Given the description of an element on the screen output the (x, y) to click on. 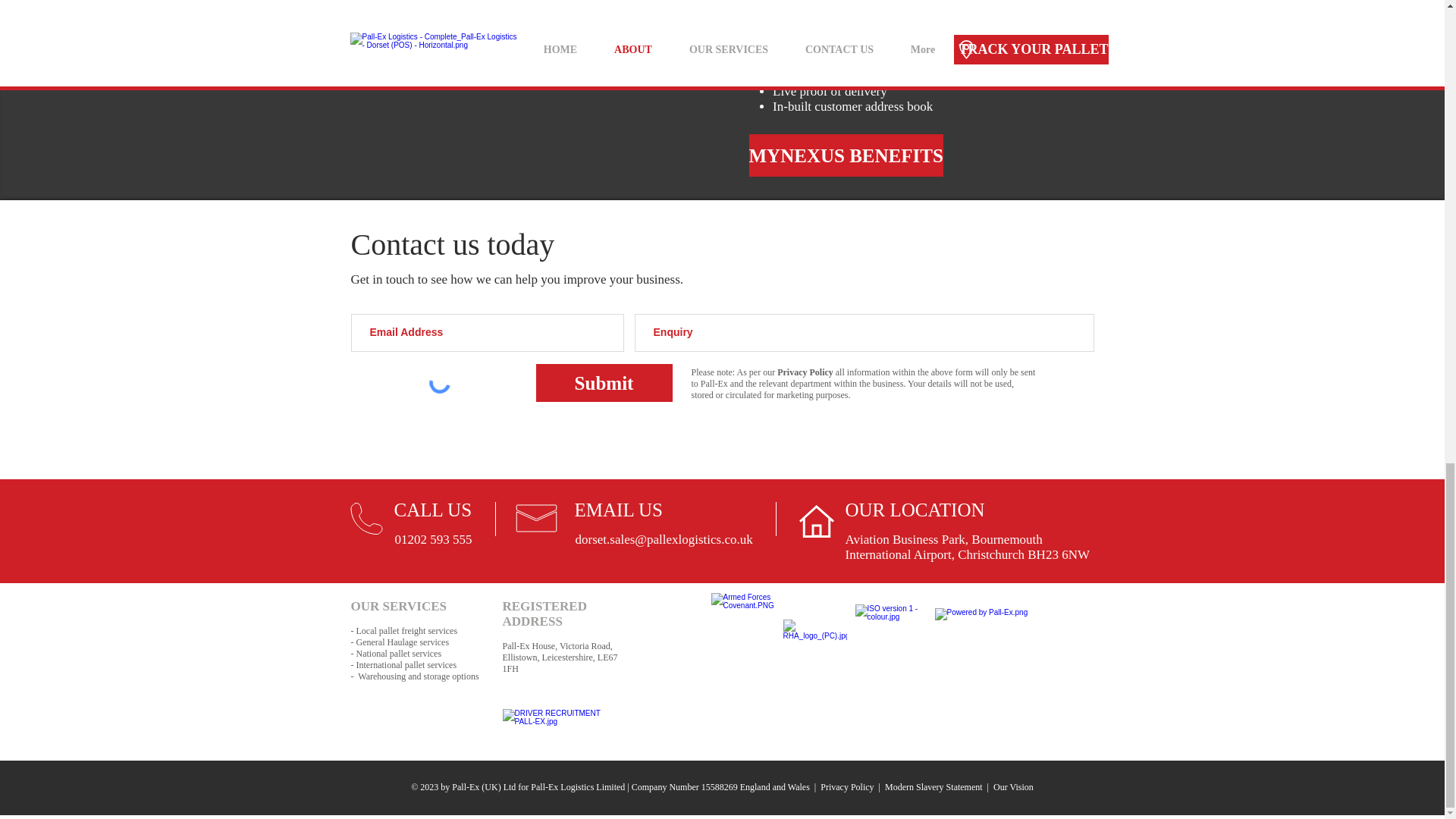
 Modern Slavery Statement  (933, 787)
01202 593 555 (432, 539)
Our Vision (1012, 787)
Privacy Policy (804, 371)
MYNEXUS BENEFITS (846, 155)
OUR SERVICES (397, 605)
Submit (603, 382)
Privacy Policy  (848, 787)
